Given the description of an element on the screen output the (x, y) to click on. 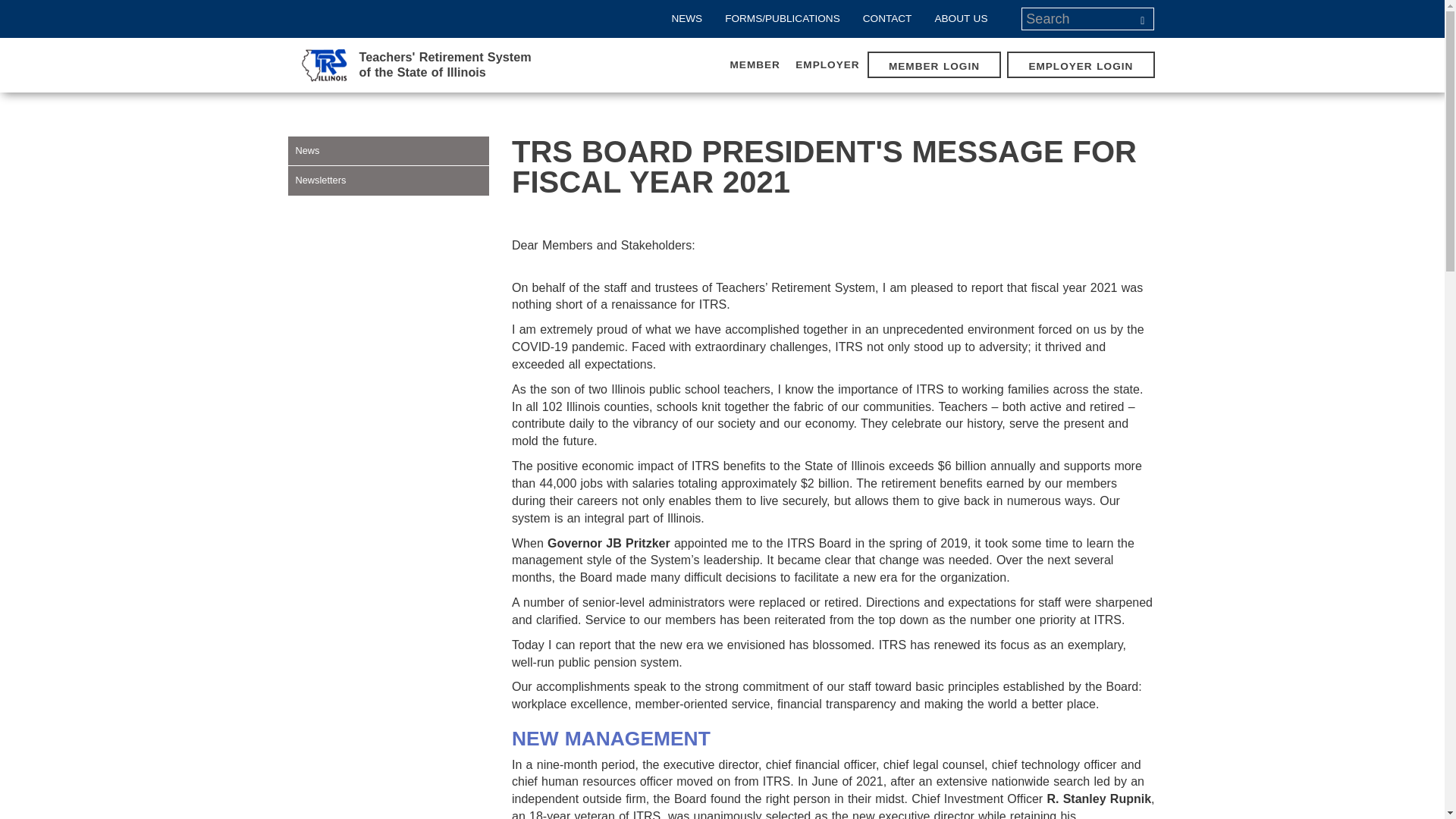
EMPLOYER (827, 64)
MEMBER (754, 64)
News (388, 150)
Search (1142, 18)
Skip to main content (10, 2)
NEWS (686, 18)
ABOUT US (960, 18)
MEMBER LOGIN (416, 63)
Home (933, 66)
CONTACT (416, 63)
EMPLOYER LOGIN (887, 18)
Newsletters (1080, 66)
